Given the description of an element on the screen output the (x, y) to click on. 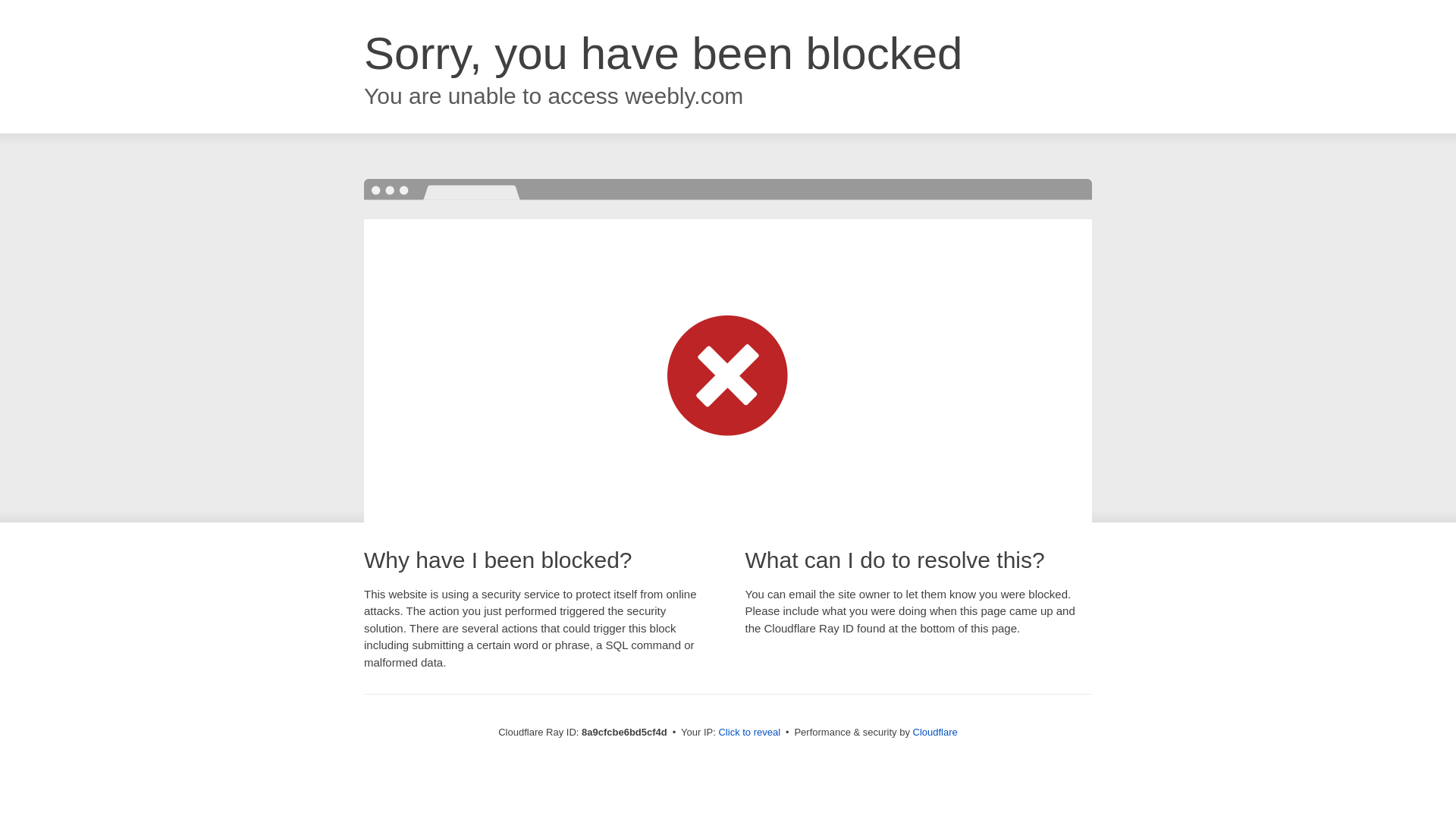
Click to reveal (748, 732)
Cloudflare (935, 731)
